Given the description of an element on the screen output the (x, y) to click on. 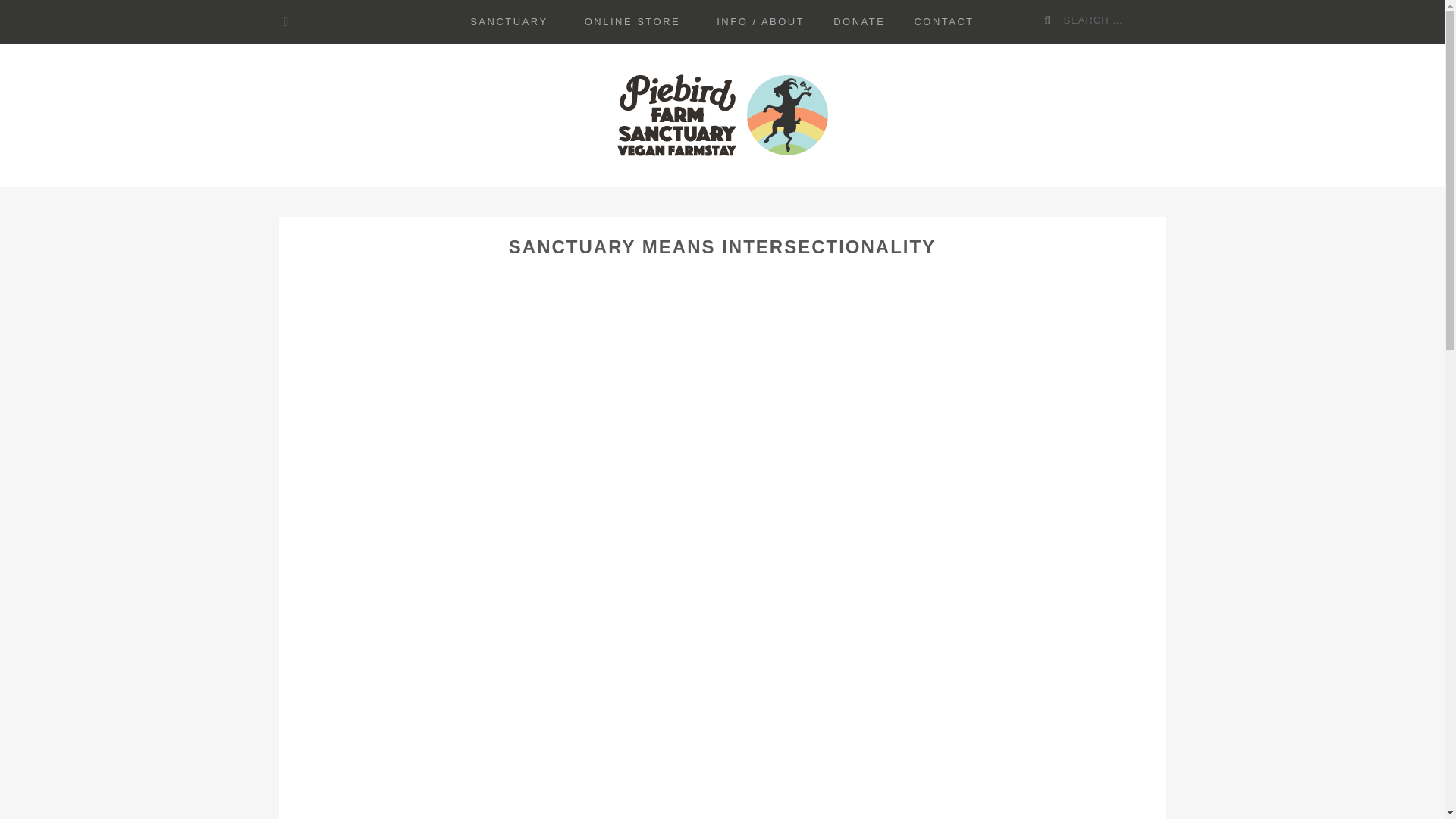
DONATE (859, 21)
Search (1052, 20)
ONLINE STORE (633, 21)
SANCTUARY (508, 21)
Search (1052, 20)
CONTACT (944, 21)
sample (286, 21)
Search (1052, 20)
